Given the description of an element on the screen output the (x, y) to click on. 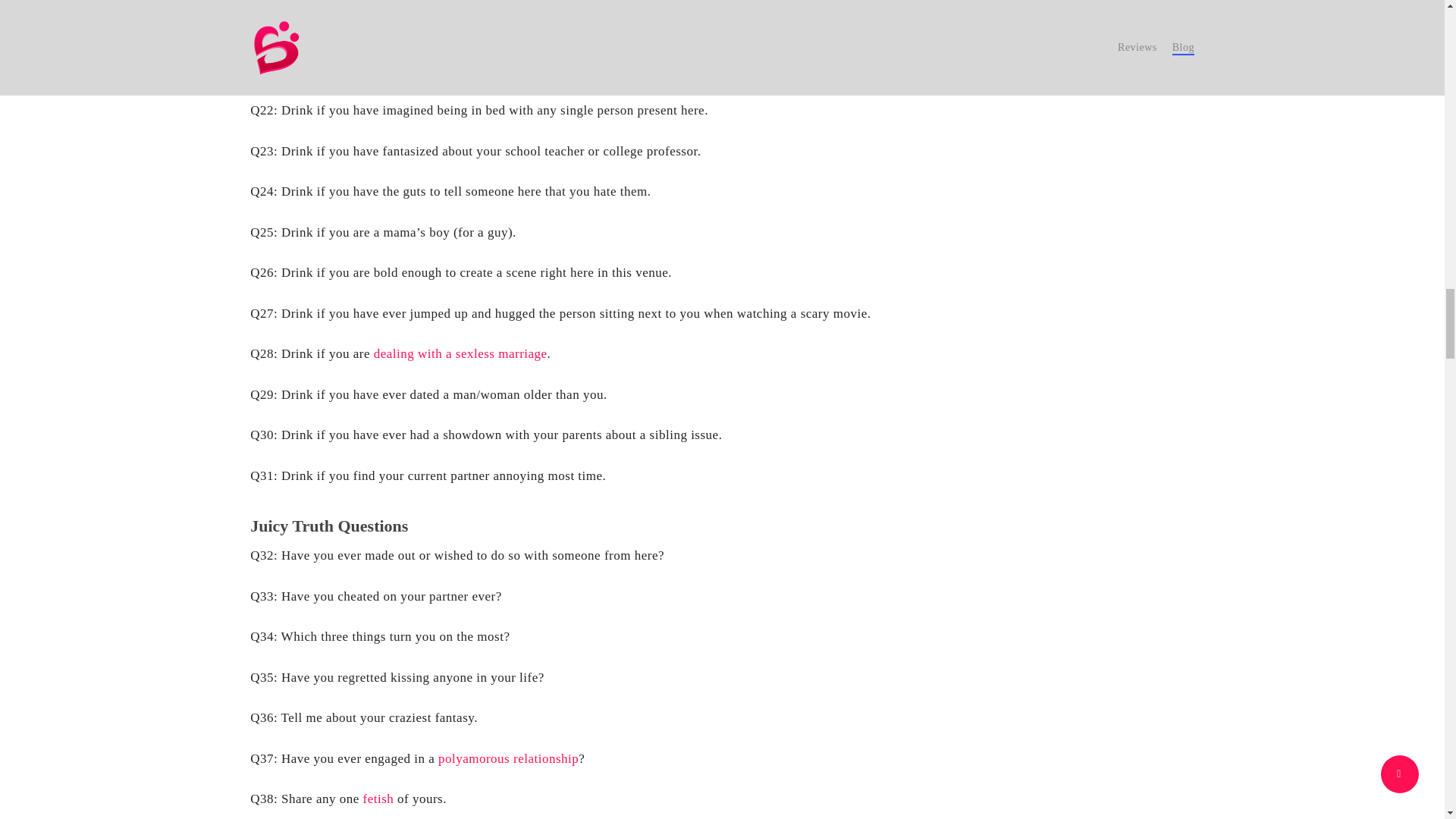
fetish (377, 798)
dealing with a sexless marriage (460, 353)
polyamorous relationship (508, 758)
